Given the description of an element on the screen output the (x, y) to click on. 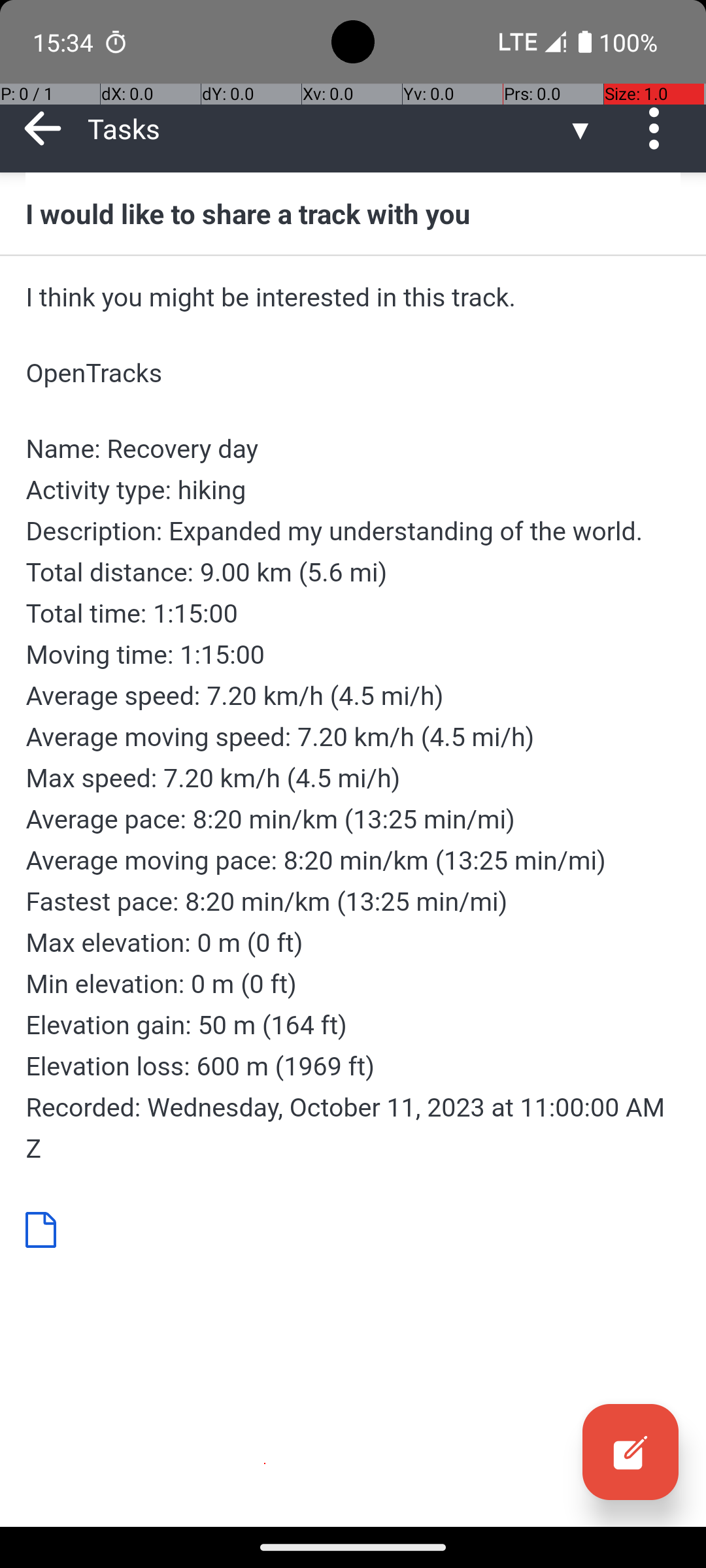
I would like to share a track with you Element type: android.widget.EditText (352, 213)
I think you might be interested in this track. Element type: android.widget.TextView (352, 296)
Name: Recovery day
Activity type: hiking
Description: Expanded my understanding of the world.
Total distance: 9.00 km (5.6 mi)
Total time: 1:15:00
Moving time: 1:15:00
Average speed: 7.20 km/h (4.5 mi/h)
Average moving speed: 7.20 km/h (4.5 mi/h)
Max speed: 7.20 km/h (4.5 mi/h)
Average pace: 8:20 min/km (13:25 min/mi)
Average moving pace: 8:20 min/km (13:25 min/mi)
Fastest pace: 8:20 min/km (13:25 min/mi)
Max elevation: 0 m (0 ft)
Min elevation: 0 m (0 ft)
Elevation gain: 50 m (164 ft)
Elevation loss: 600 m (1969 ft)
Recorded: Wednesday, October 11, 2023 at 11:00:00 AM Z Element type: android.widget.TextView (352, 798)
NoteBodyViewer Element type: android.view.View (45, 1228)
